Given the description of an element on the screen output the (x, y) to click on. 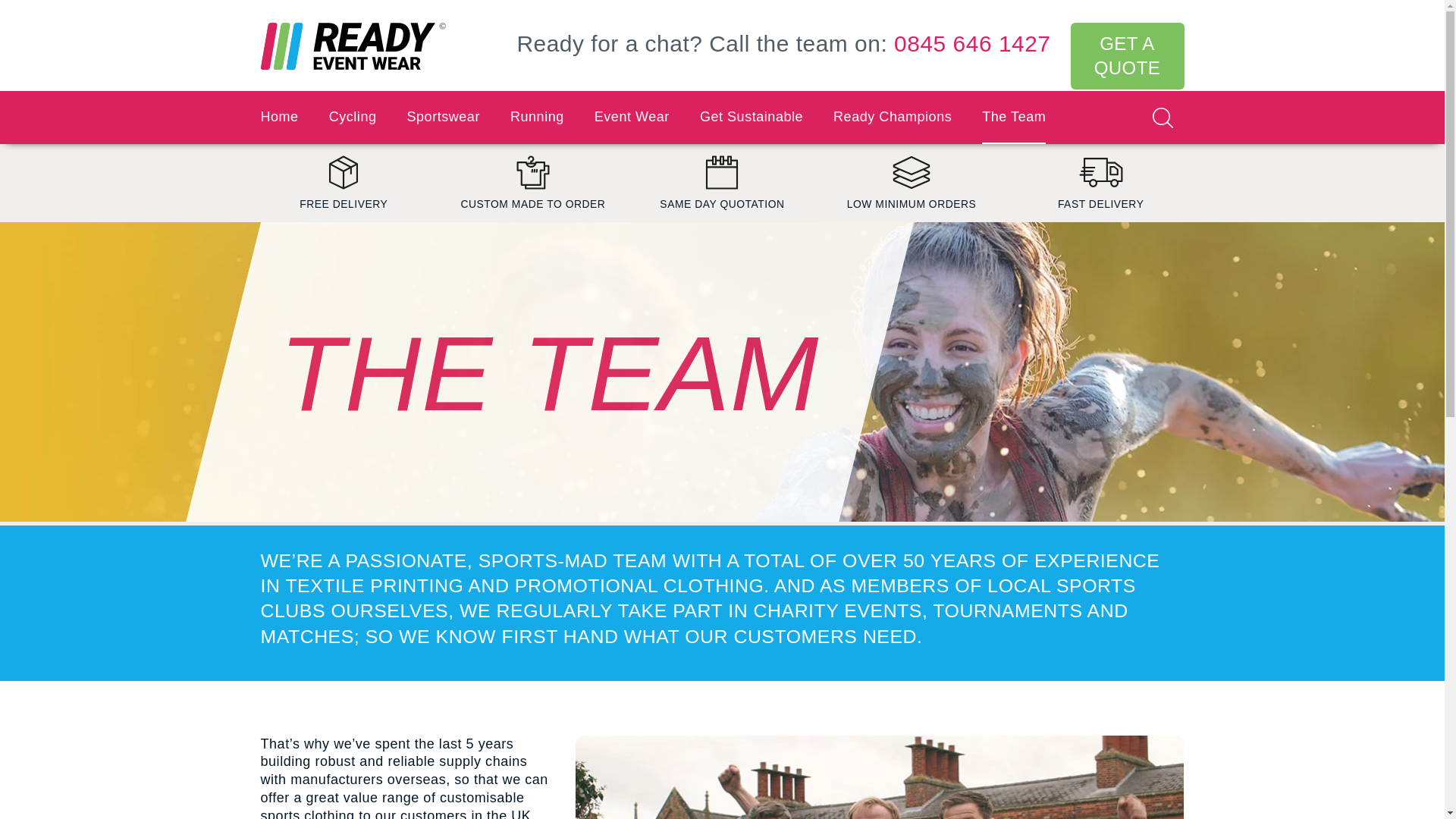
Ready Champions (892, 117)
Cycling (353, 117)
Running (537, 117)
The Team (1013, 117)
Sportswear (442, 117)
GET A QUOTE (1127, 55)
Get Sustainable (751, 117)
Event Wear (631, 117)
